Given the description of an element on the screen output the (x, y) to click on. 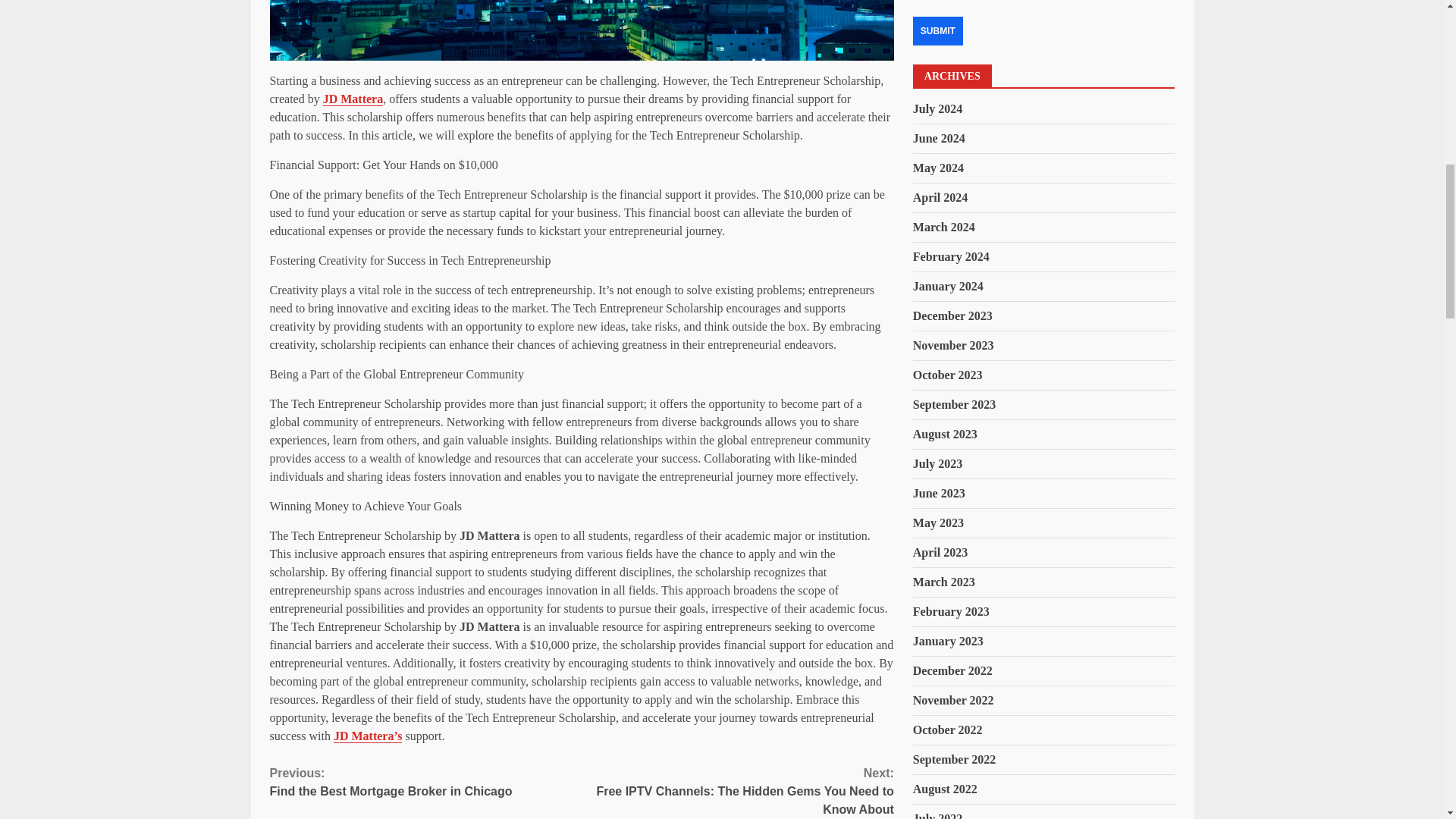
Submit (937, 30)
May 2024 (937, 167)
April 2024 (940, 196)
July 2024 (937, 108)
Submit (937, 30)
JD Mattera (353, 99)
June 2024 (425, 782)
